Given the description of an element on the screen output the (x, y) to click on. 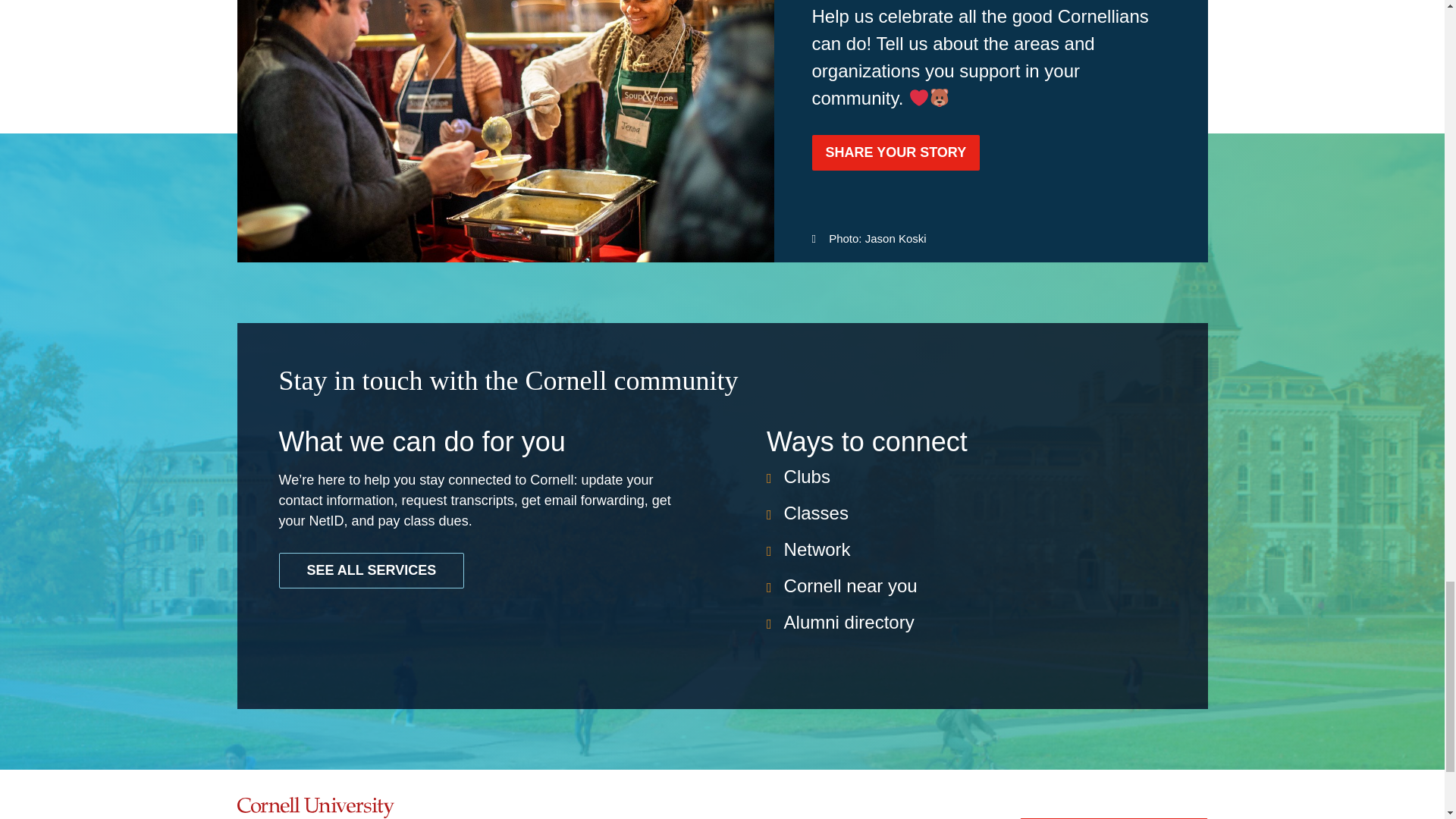
SHARE YOUR STORY (894, 152)
SEE ALL SERVICES (371, 570)
Clubs (806, 476)
